Given the description of an element on the screen output the (x, y) to click on. 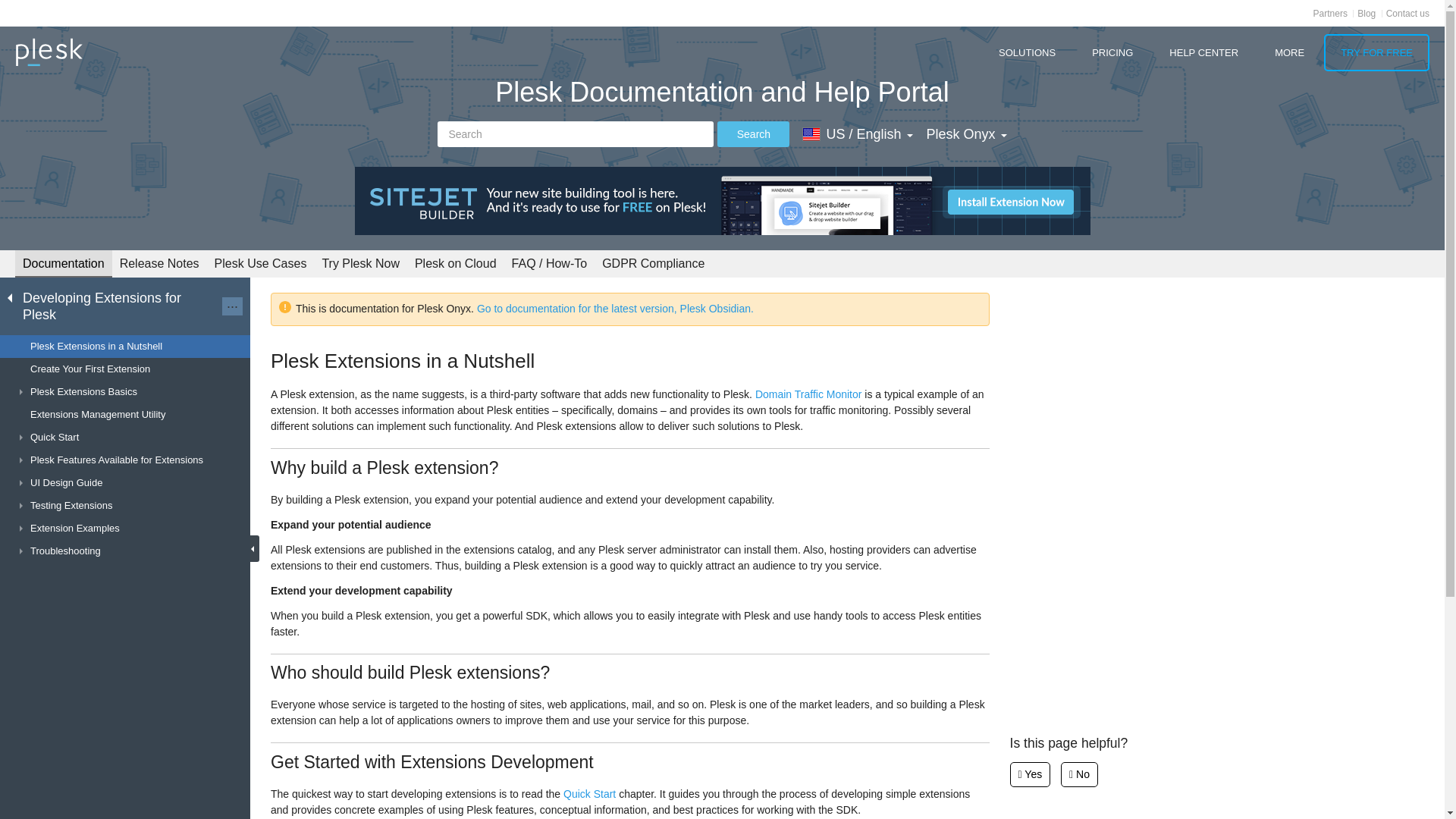
Documentation (63, 263)
Plesk Use Cases (260, 263)
PRICING (1112, 52)
Contact us (1407, 13)
Search (753, 134)
Plesk Extensions in a Nutshell (125, 345)
Plesk Onyx (966, 134)
Try Plesk Now (360, 263)
Release Notes (159, 263)
GDPR Compliance (652, 263)
Search (575, 134)
MORE (1288, 52)
SOLUTIONS (1026, 52)
Sitejet Builder (722, 201)
